Given the description of an element on the screen output the (x, y) to click on. 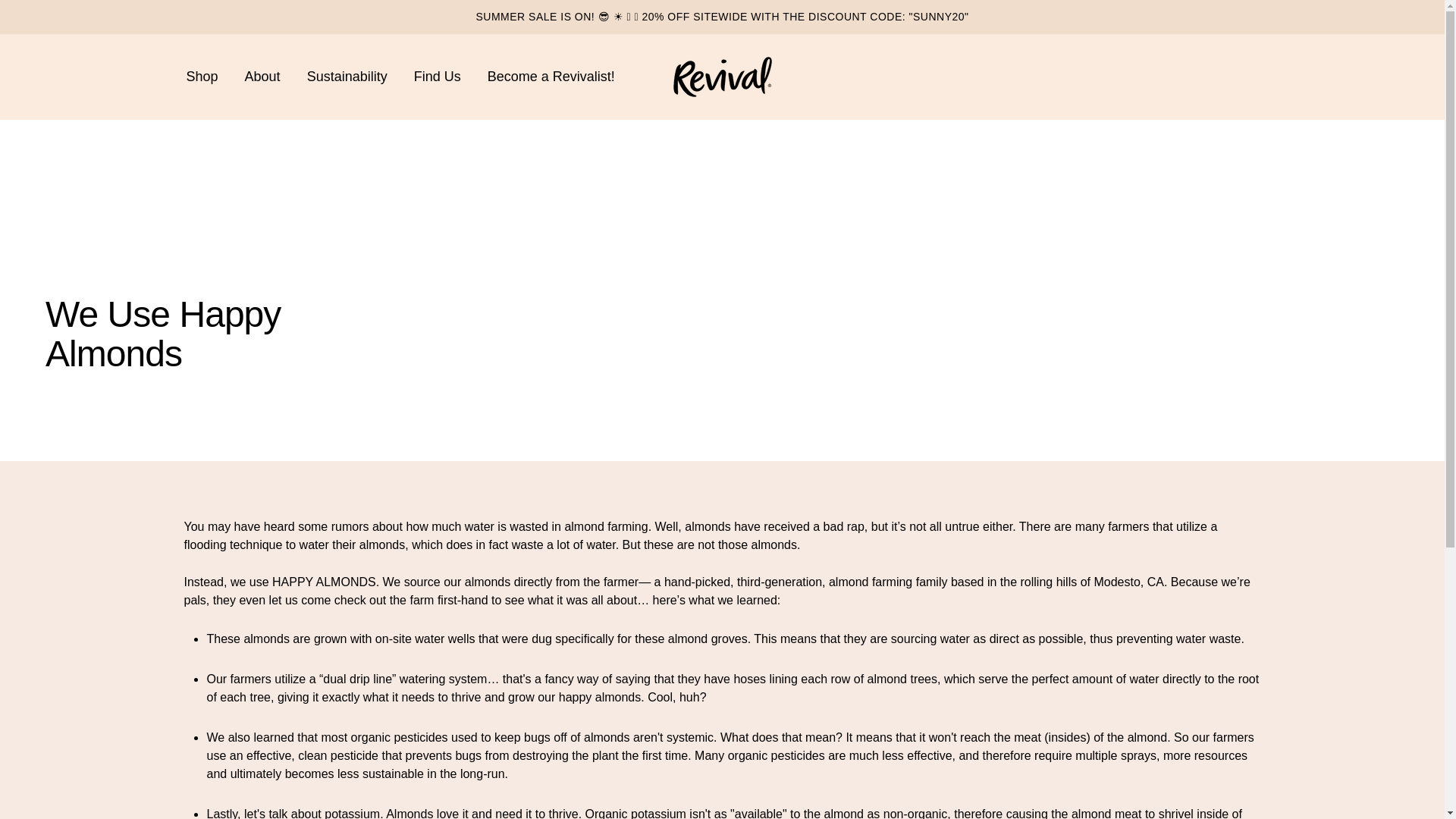
Shop (201, 77)
Sustainability (346, 77)
Find Us (437, 77)
About (262, 77)
Become a Revivalist! (551, 77)
